Given the description of an element on the screen output the (x, y) to click on. 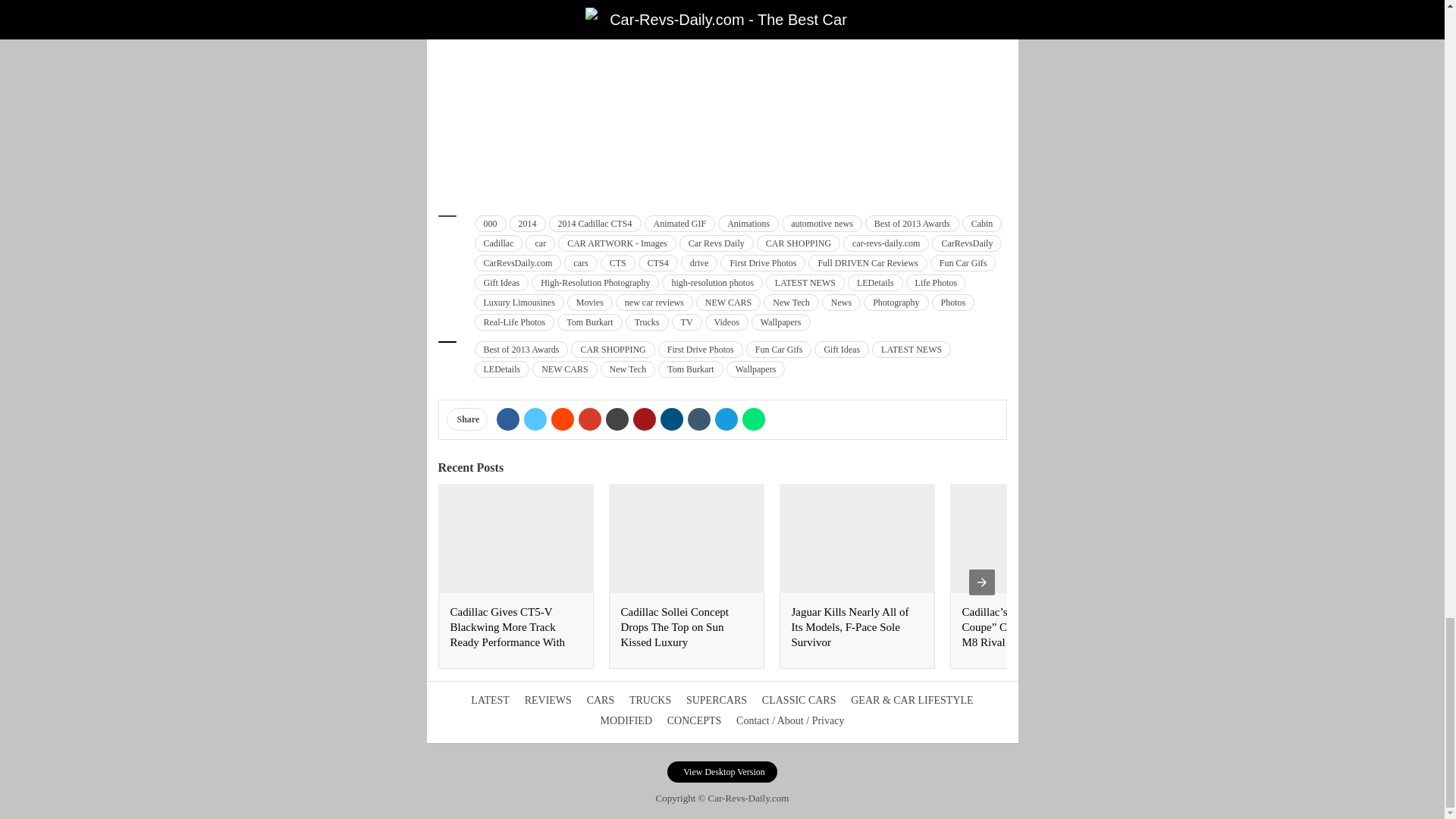
000 (490, 223)
2014 (527, 223)
Animated GIF (680, 223)
automotive news (821, 223)
2014 Cadillac CTS4 (595, 223)
Animations (747, 223)
Next item in carousel (981, 582)
